Given the description of an element on the screen output the (x, y) to click on. 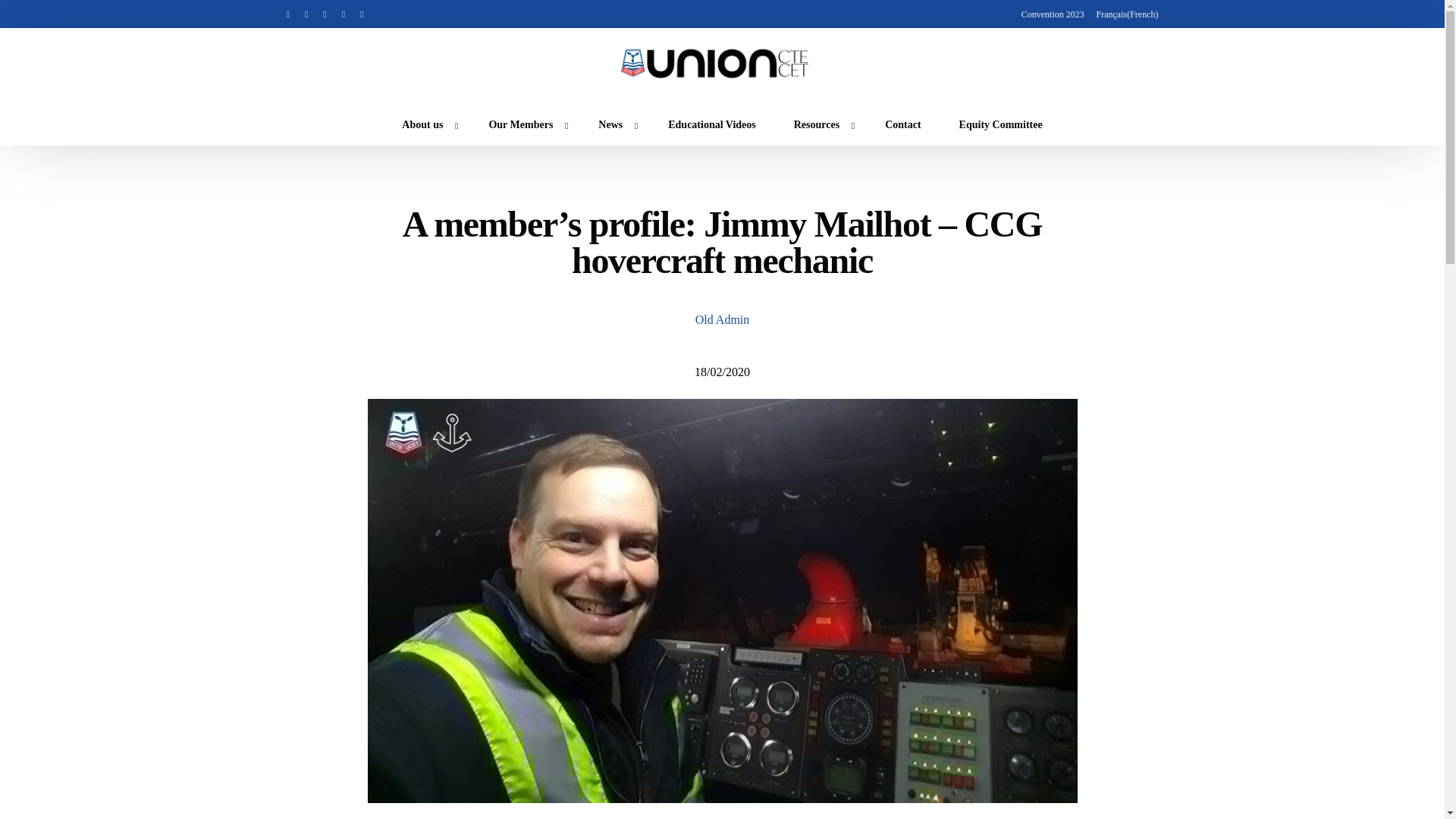
About us (425, 124)
Convention 2023 (1052, 14)
Educational Videos (711, 124)
French (1123, 13)
Contact (902, 124)
Our Members (523, 124)
Resources (820, 124)
News (614, 124)
